Given the description of an element on the screen output the (x, y) to click on. 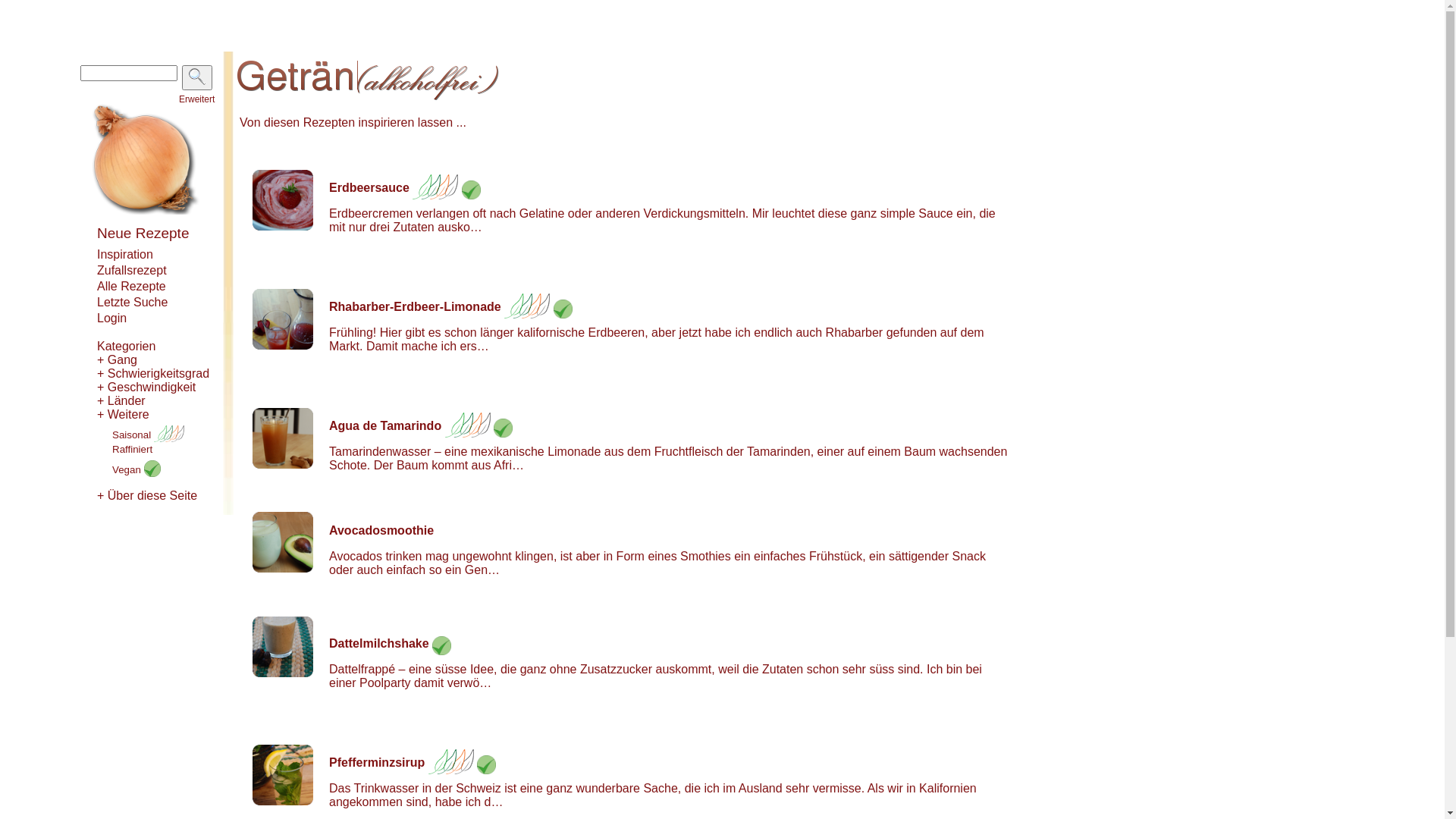
Neue Rezepte Element type: text (142, 233)
Erweitert Element type: text (196, 99)
Erdbeersauce Element type: text (369, 187)
Zufallsrezept Element type: text (131, 269)
Dieses Rezept hat derzeit Saison. Element type: hover (450, 762)
Kategorien Element type: text (126, 345)
Startseite Element type: hover (144, 209)
Avocadosmoothie Element type: text (381, 530)
Rhabarber-Erdbeer-Limonade Element type: text (415, 306)
+ Geschwindigkeit Element type: text (146, 386)
Raffiniert Element type: text (132, 449)
Von diesen Rezepten inspirieren lassen ... Element type: text (352, 122)
Dieses Rezept hat derzeit Saison. Element type: hover (435, 187)
Dieses Rezept hat derzeit Saison. Element type: hover (467, 425)
Saisonal Element type: text (148, 434)
+ Gang Element type: text (117, 359)
Pfefferminzsirup Element type: text (376, 762)
+ Schwierigkeitsgrad Element type: text (153, 373)
+ Weitere Element type: text (123, 413)
Alle Rezepte Element type: text (131, 285)
Login Element type: text (111, 317)
Dieses Rezept hat derzeit Saison. Element type: hover (526, 306)
Agua de Tamarindo Element type: text (385, 425)
Vegan Element type: text (136, 469)
Letzte Suche Element type: text (132, 301)
Dattelmilchshake Element type: text (379, 643)
Inspiration Element type: text (125, 253)
